Given the description of an element on the screen output the (x, y) to click on. 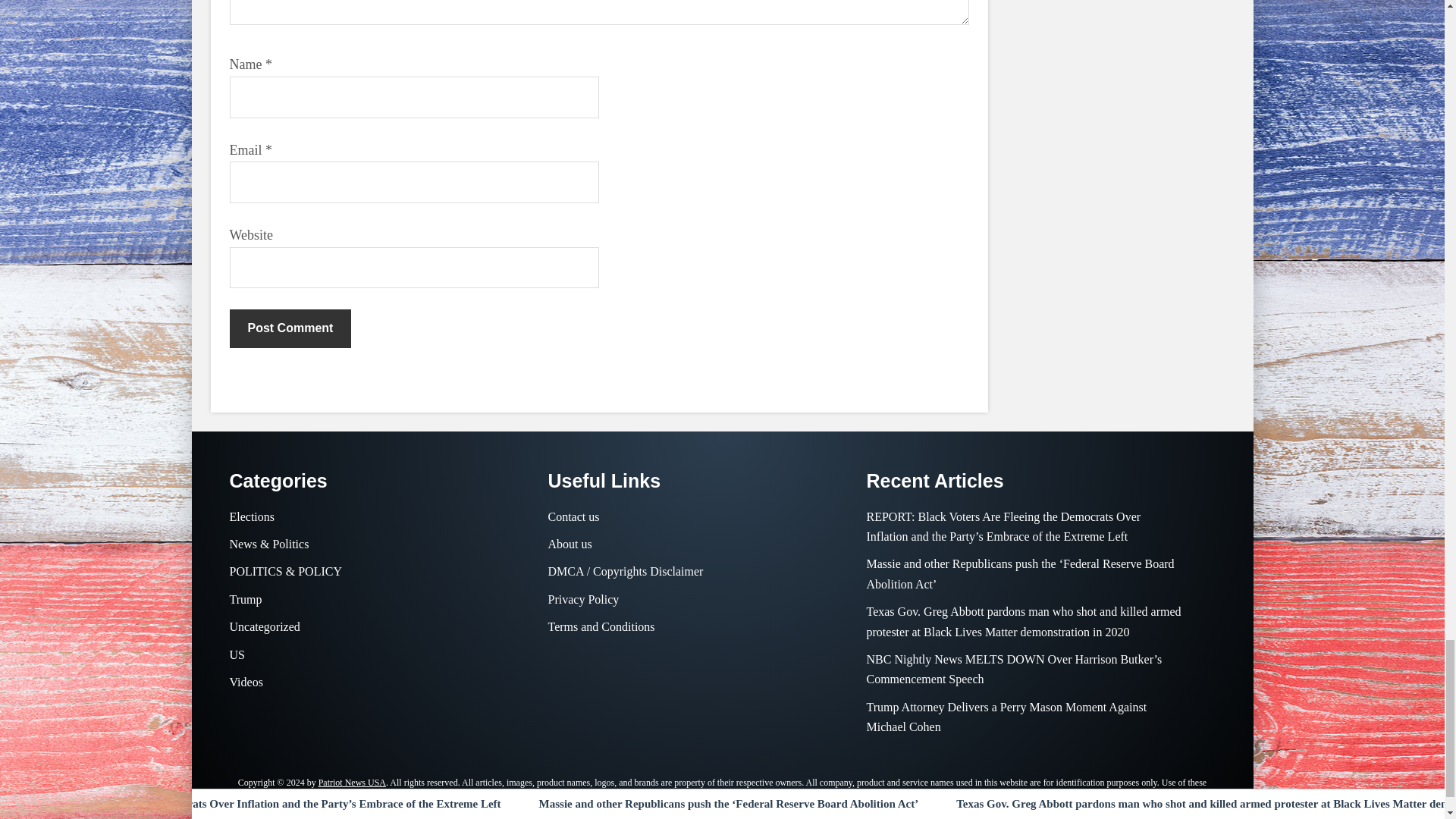
Post Comment (289, 328)
